Given the description of an element on the screen output the (x, y) to click on. 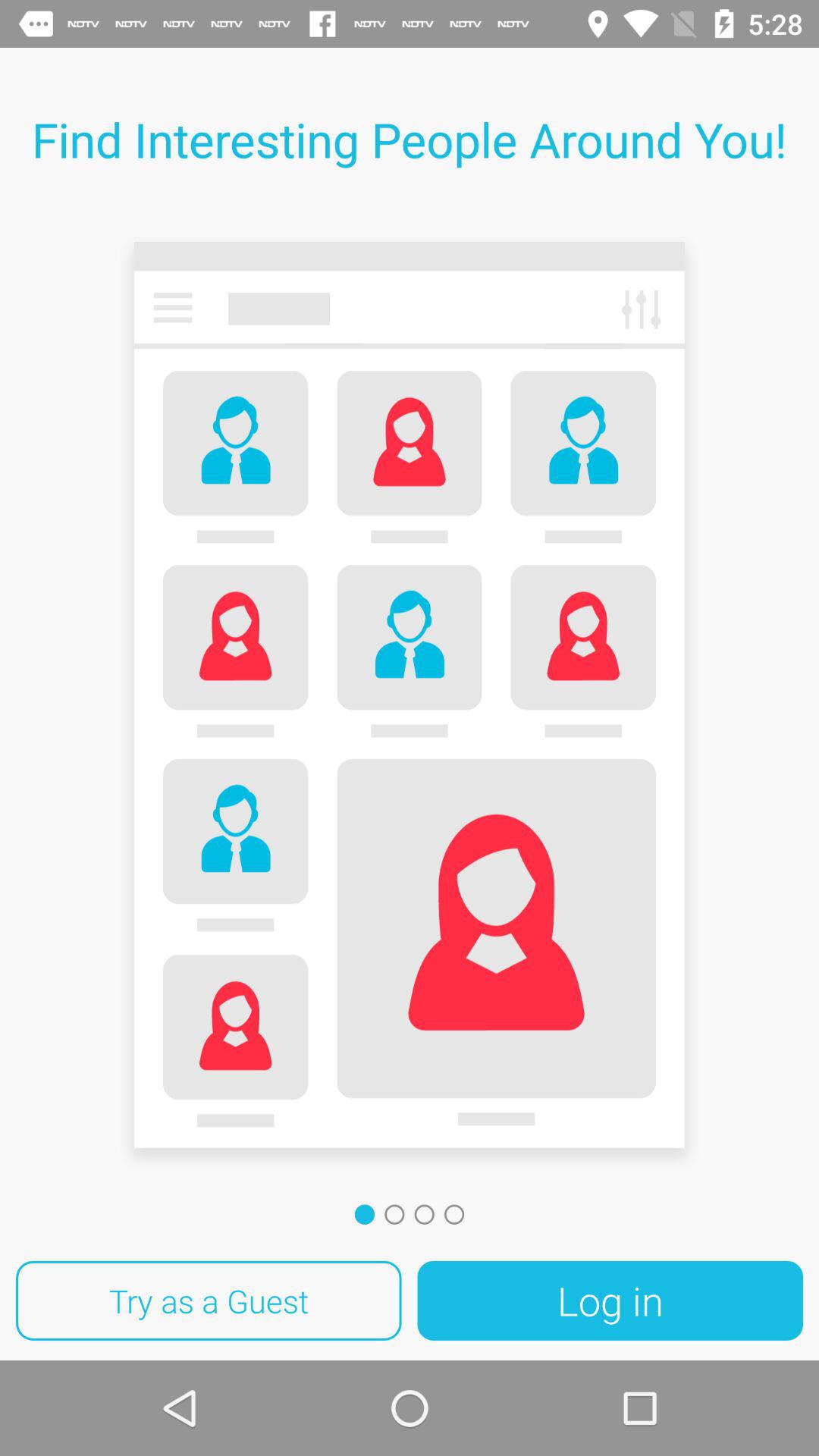
press the icon at the center (409, 700)
